Given the description of an element on the screen output the (x, y) to click on. 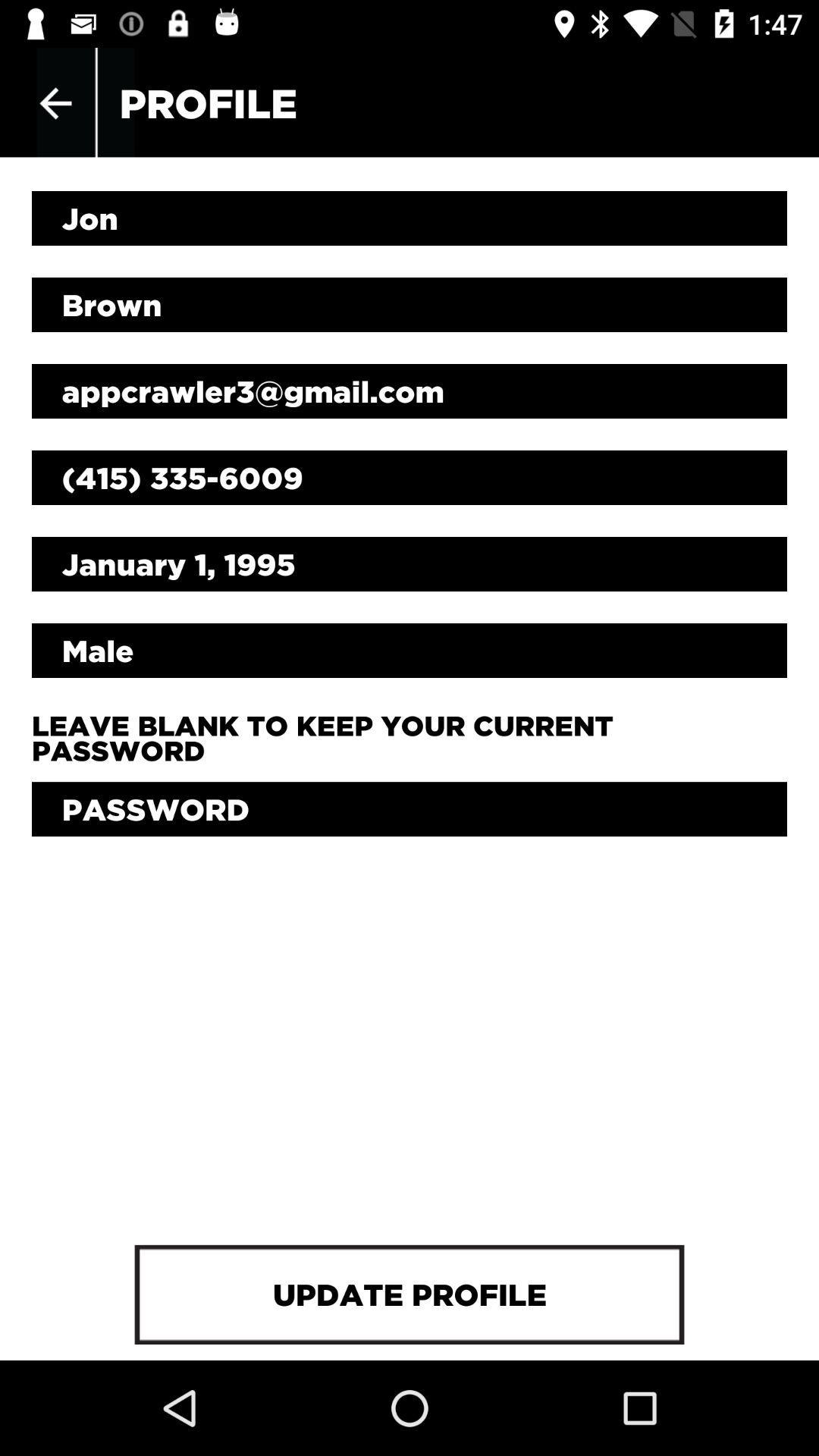
to use click the password (409, 809)
